Given the description of an element on the screen output the (x, y) to click on. 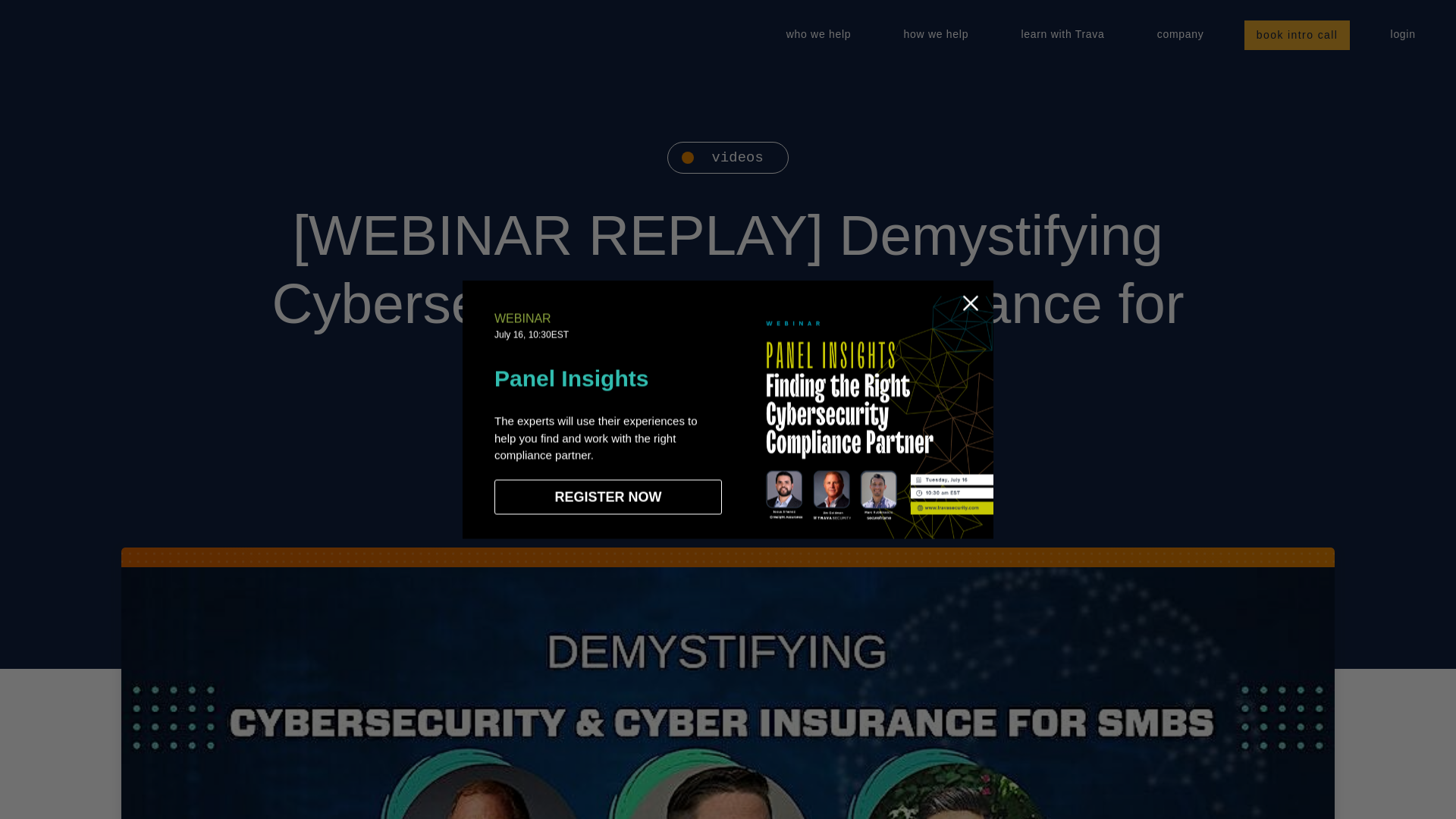
company (1180, 34)
book intro call (1296, 34)
